Given the description of an element on the screen output the (x, y) to click on. 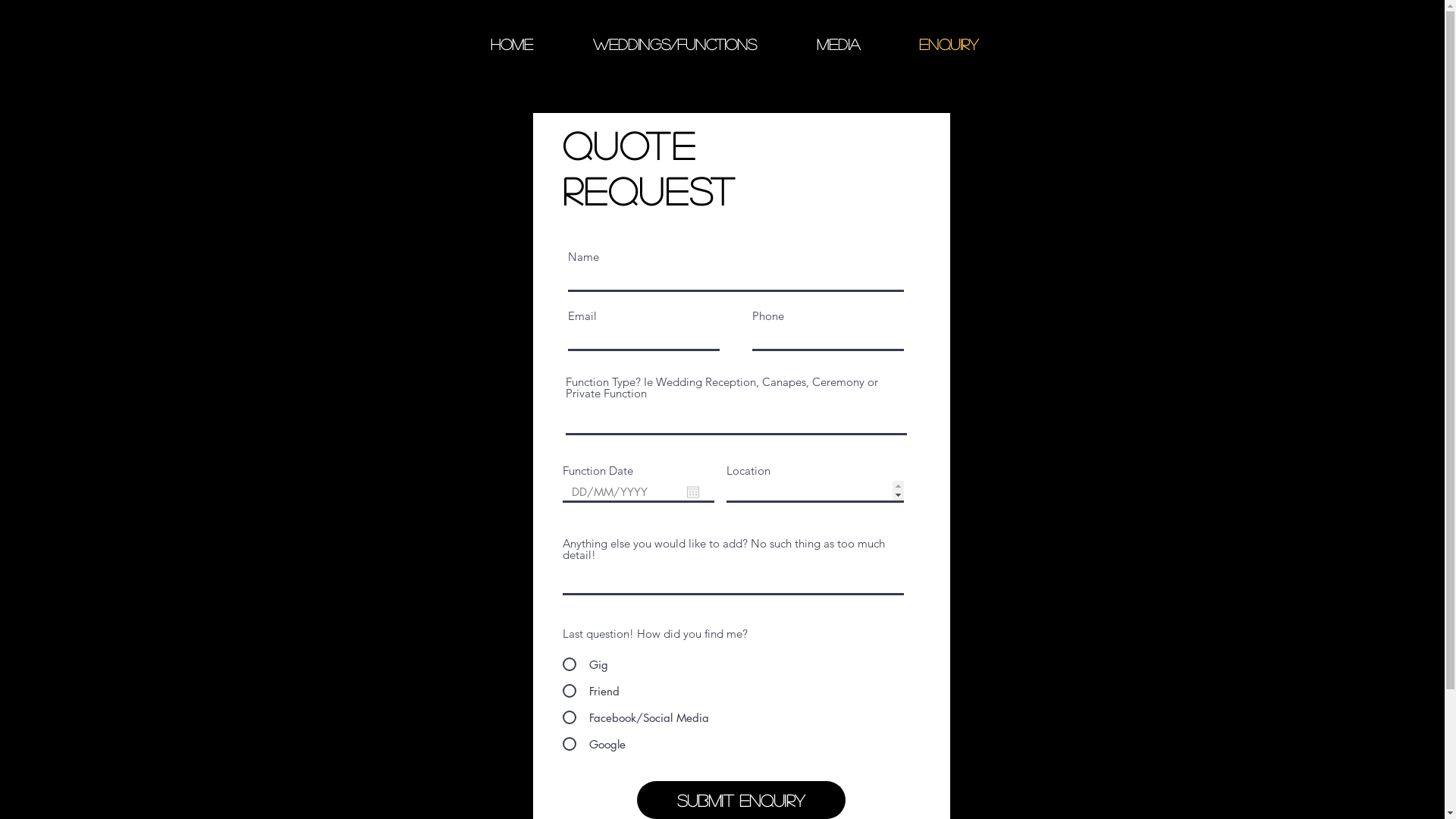
WEDDINGS/FUNCTIONS Element type: text (674, 43)
HOME Element type: text (512, 43)
ENQUIRY Element type: text (947, 43)
MEDIA Element type: text (838, 43)
